Given the description of an element on the screen output the (x, y) to click on. 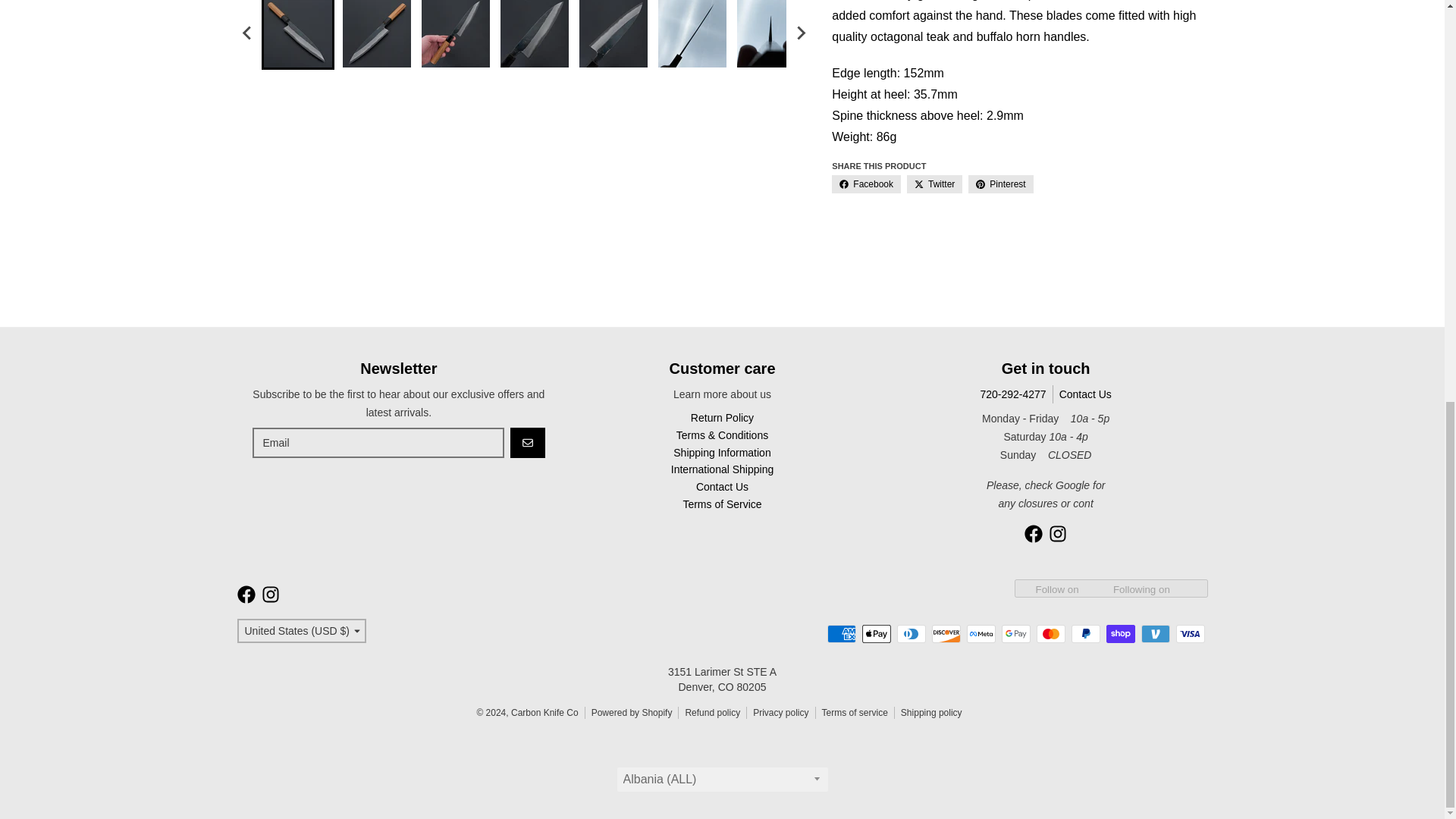
Facebook - Carbon Knife Co (244, 594)
Instagram - Carbon Knife Co (1057, 533)
Instagram - Carbon Knife Co (269, 594)
Facebook - Carbon Knife Co (1033, 533)
